Given the description of an element on the screen output the (x, y) to click on. 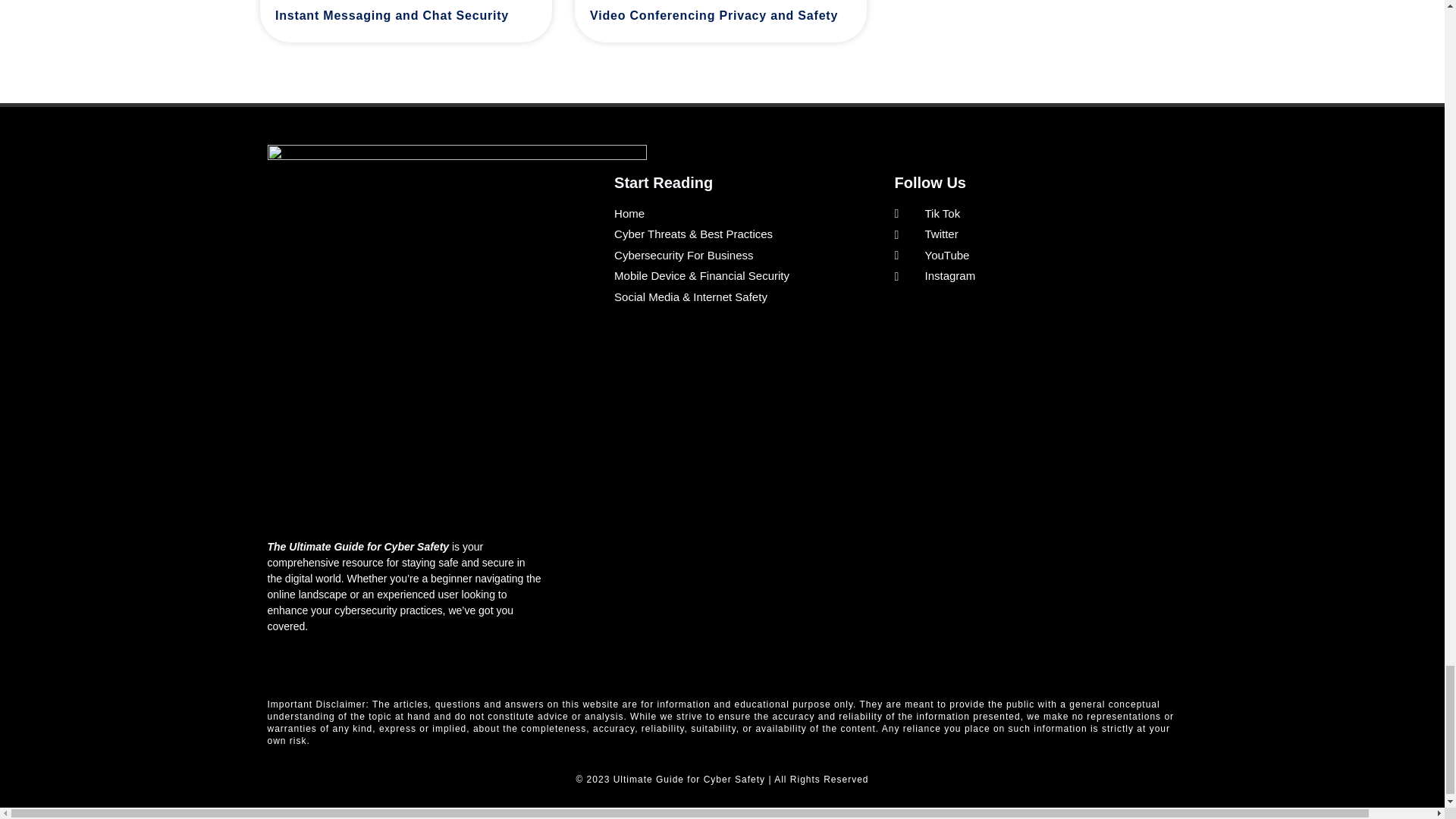
Video Conferencing Privacy and Safety (713, 15)
Cybersecurity For Business (742, 255)
Instant Messaging and Chat Security (391, 15)
Home (742, 213)
